Given the description of an element on the screen output the (x, y) to click on. 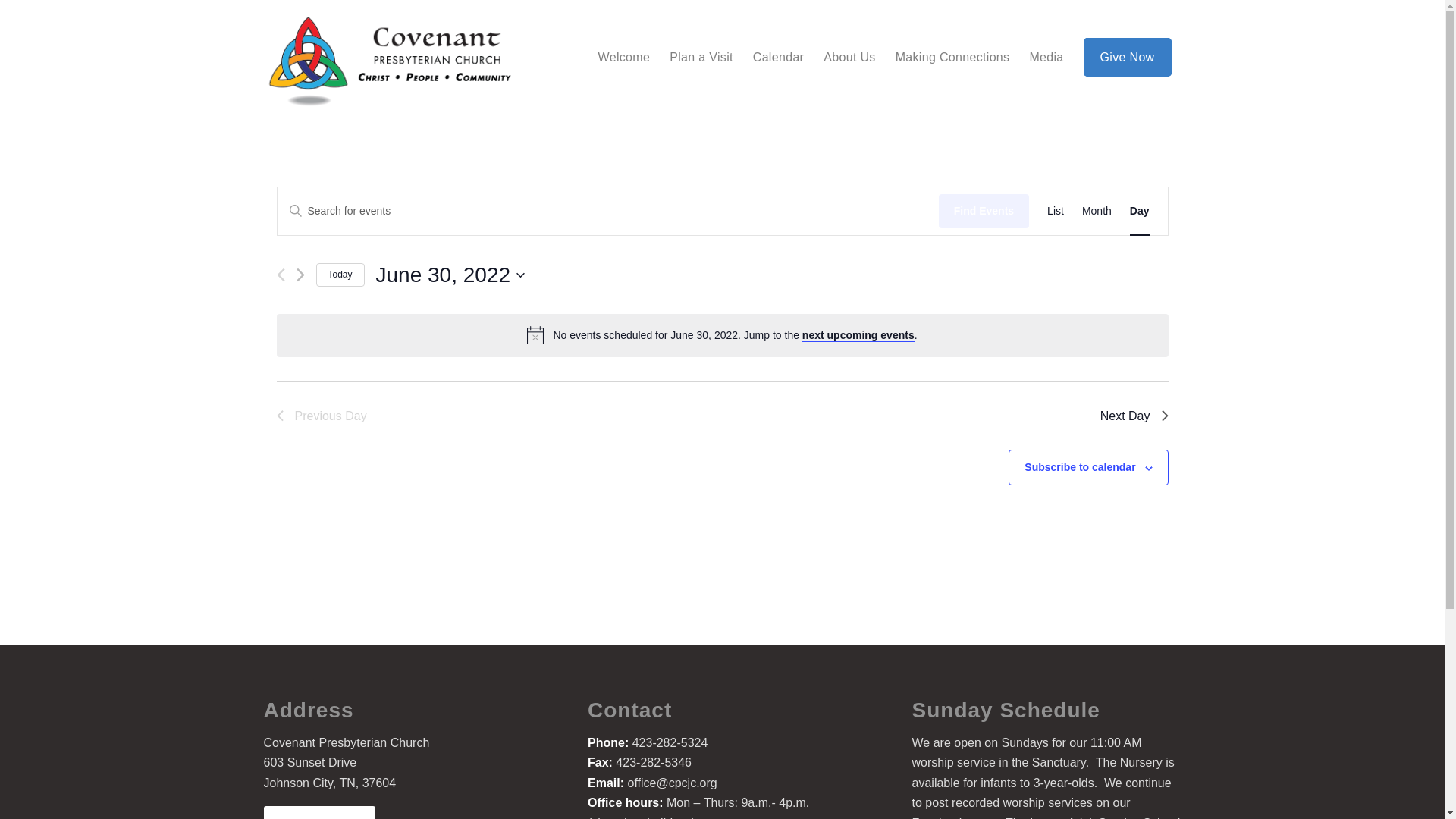
Give Now (1127, 57)
Click to toggle datepicker (450, 275)
Next Day (1134, 415)
Find Events (984, 211)
Today (339, 274)
Click to select today's date (339, 274)
next upcoming events (858, 335)
Get Directions (319, 812)
Previous Day (321, 415)
Previous Day (321, 415)
Next Day (1134, 415)
Making Connections (952, 57)
June 30, 2022 (450, 275)
Subscribe to calendar (1080, 467)
